Given the description of an element on the screen output the (x, y) to click on. 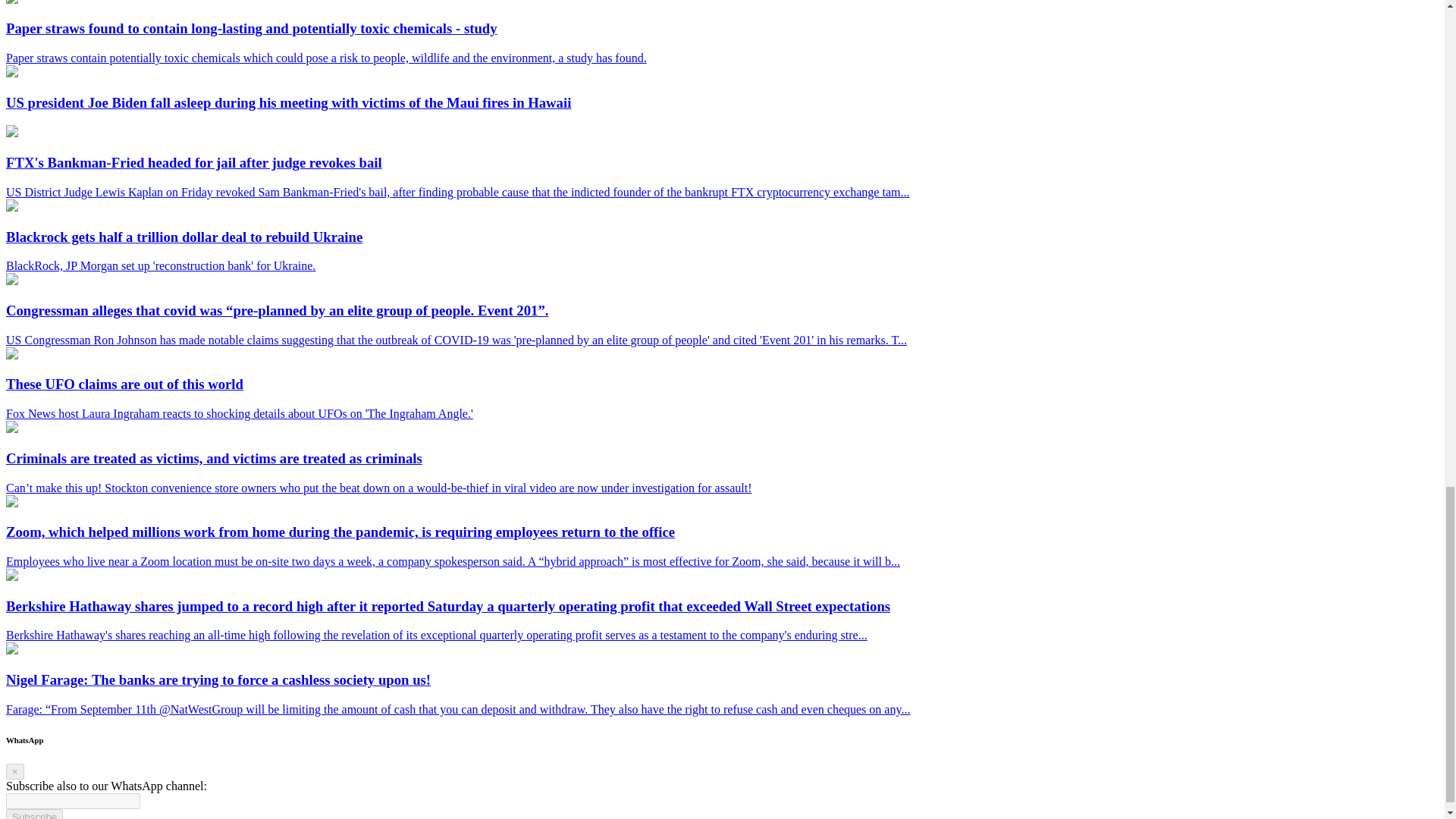
These UFO claims are out of this world (11, 354)
FTX's Bankman-Fried headed for jail after judge revokes bail (11, 132)
